Given the description of an element on the screen output the (x, y) to click on. 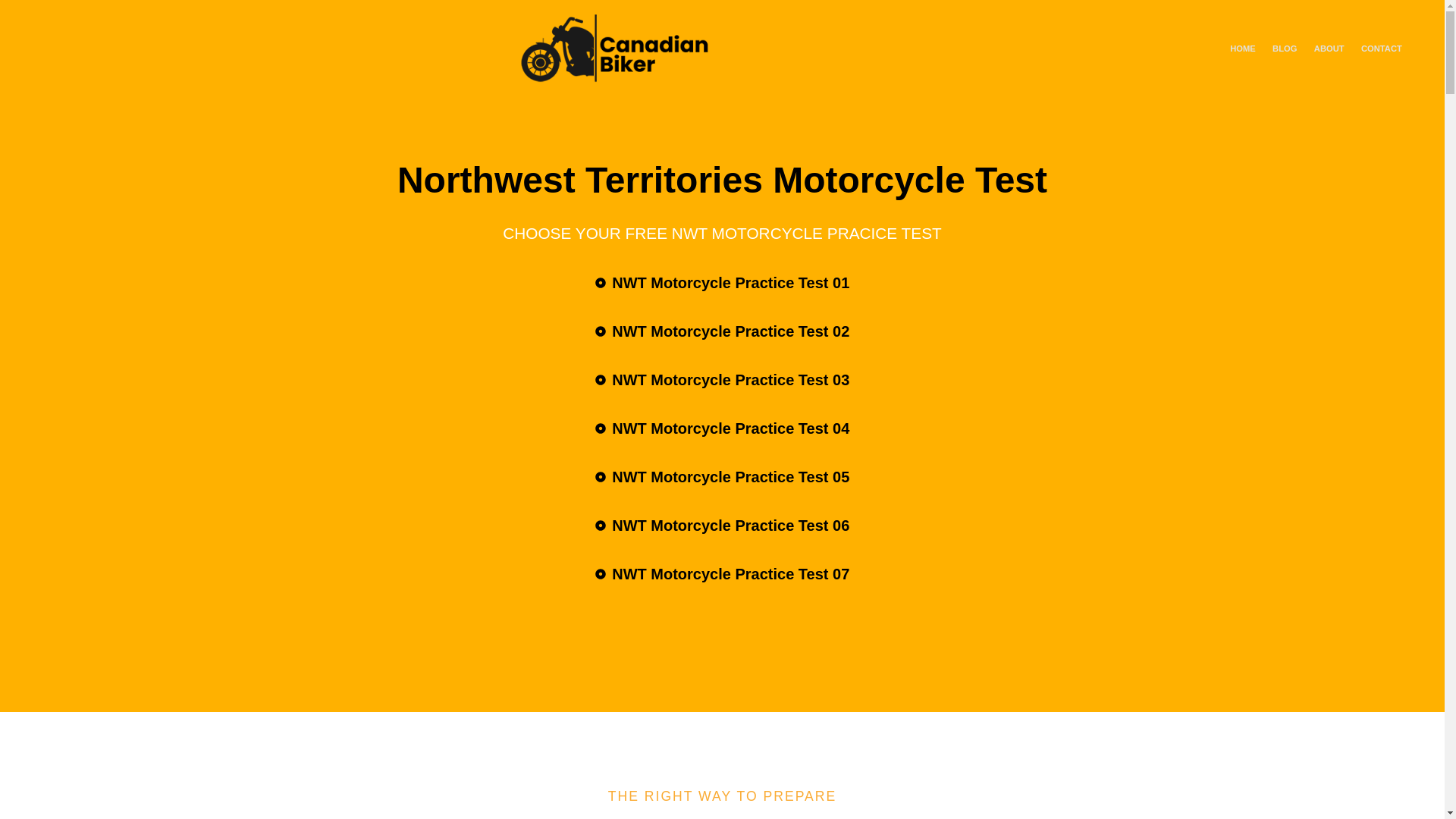
CONTACT (1381, 48)
NWT Motorcycle Practice Test 05 (721, 476)
NWT Motorcycle Practice Test 06 (721, 525)
NWT Motorcycle Practice Test 03 (721, 379)
NWT Motorcycle Practice Test 02 (721, 331)
NWT Motorcycle Practice Test 01 (721, 282)
NWT Motorcycle Practice Test 04 (721, 428)
NWT Motorcycle Practice Test 07 (721, 573)
